Given the description of an element on the screen output the (x, y) to click on. 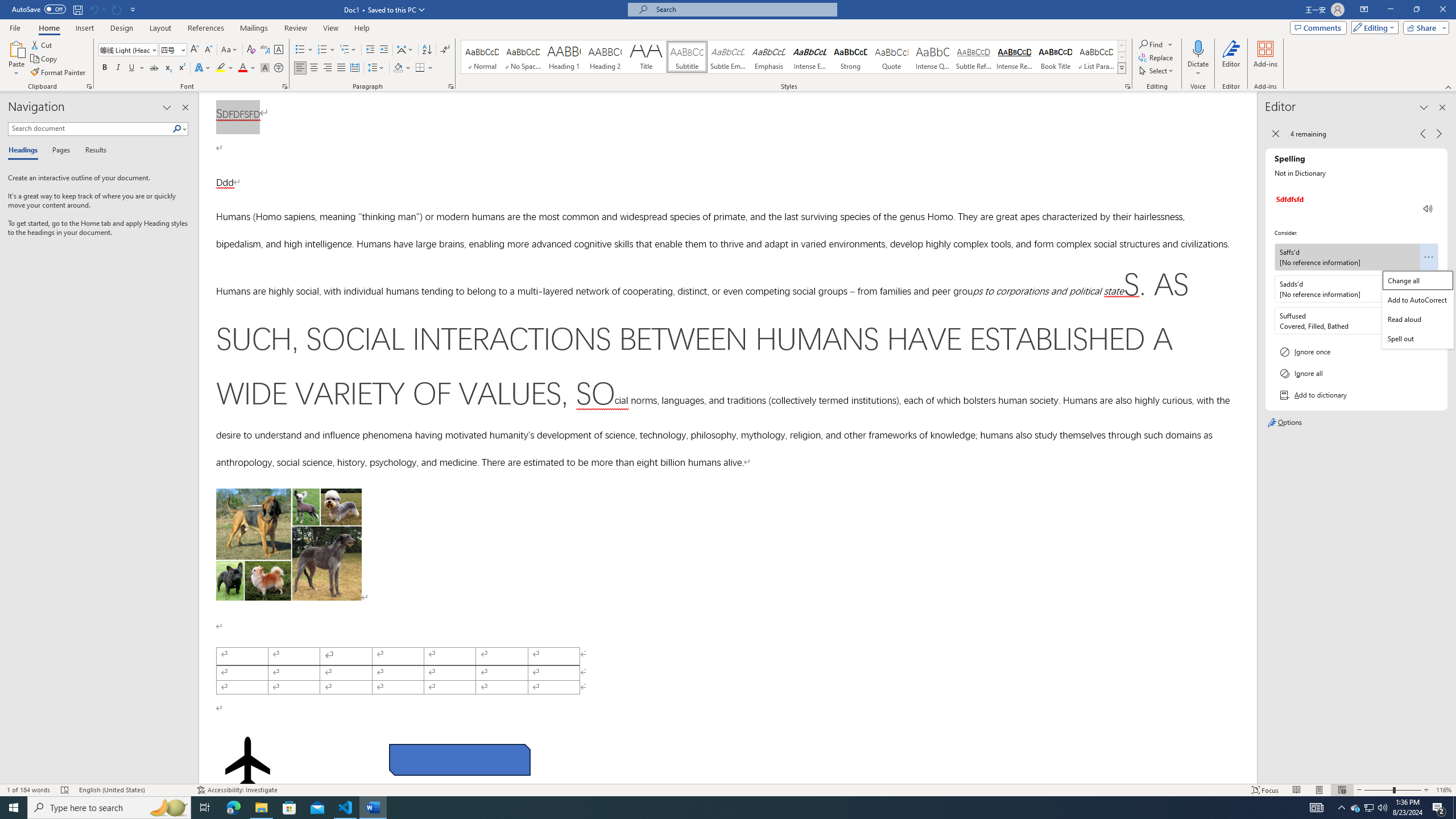
Back (1275, 133)
Rectangle: Diagonal Corners Snipped 2 (458, 759)
